Given the description of an element on the screen output the (x, y) to click on. 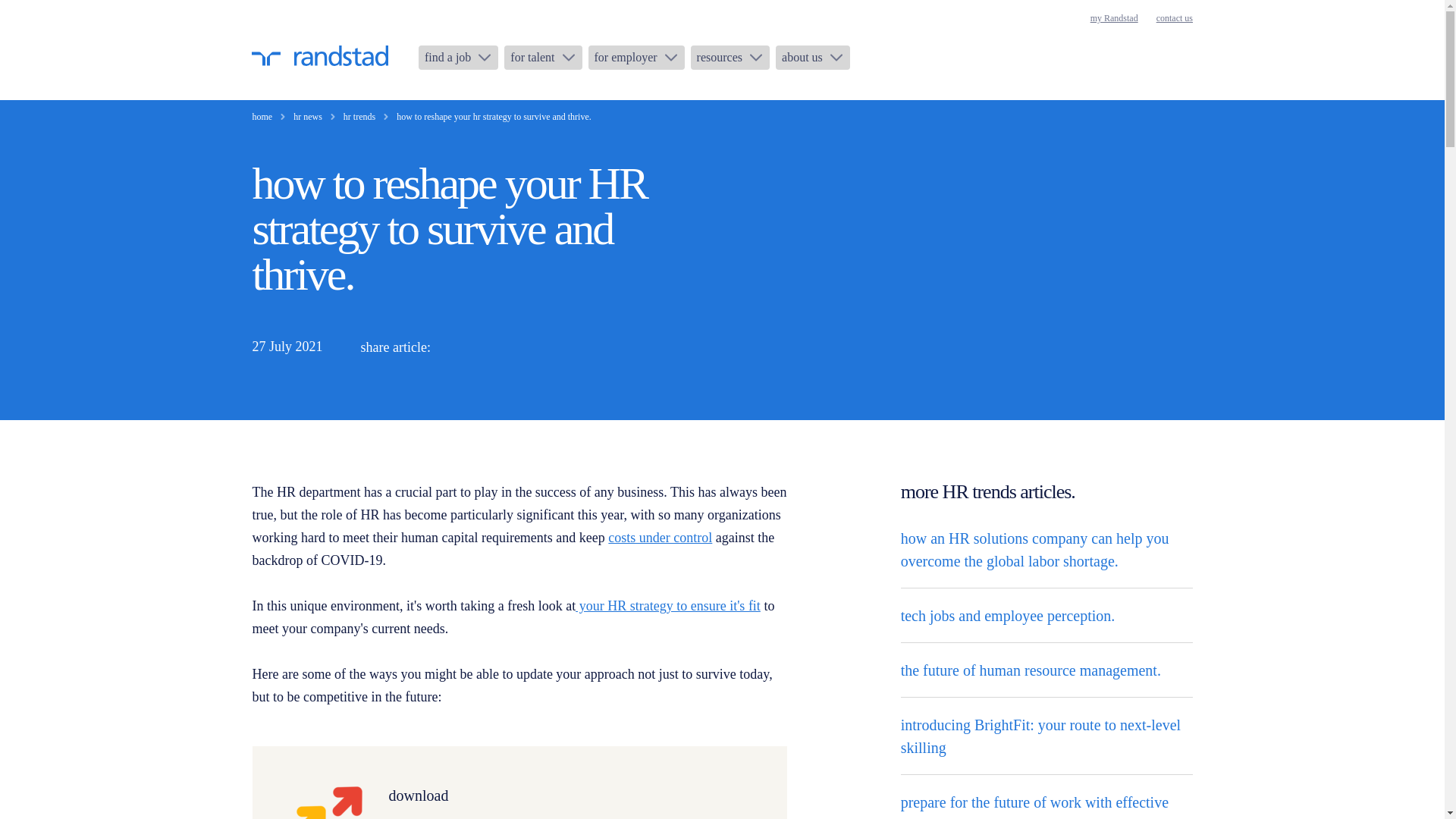
find a job (458, 57)
for talent (541, 57)
contact us (1174, 18)
share this article on linkedin (457, 346)
share this article on facebook (528, 346)
my Randstad (1114, 18)
share this article on twitter (493, 346)
